Given the description of an element on the screen output the (x, y) to click on. 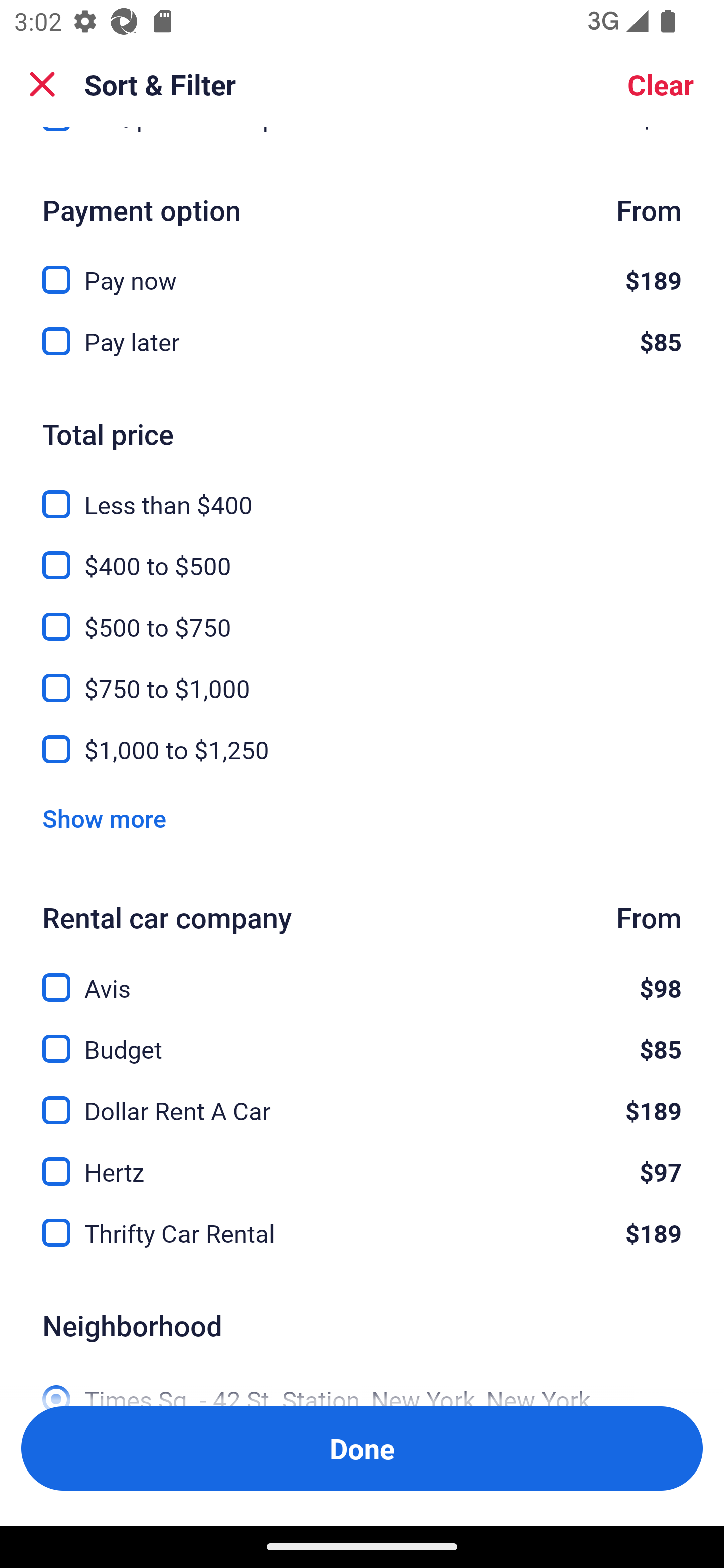
Close Sort and Filter (42, 84)
Clear (660, 84)
Pay now, $189 Pay now $189 (361, 268)
Pay later, $85 Pay later $85 (361, 341)
Less than $400, Less than $400 (361, 492)
$400 to $500, $400 to $500 (361, 553)
$500 to $750, $500 to $750 (361, 615)
$750 to $1,000, $750 to $1,000 (361, 676)
$1,000 to $1,250, $1,000 to $1,250 (361, 749)
Show more Show more Link (103, 818)
Avis, $98 Avis $98 (361, 975)
Budget, $85 Budget $85 (361, 1036)
Dollar Rent A Car, $189 Dollar Rent A Car $189 (361, 1098)
Hertz, $97 Hertz $97 (361, 1160)
Thrifty Car Rental, $189 Thrifty Car Rental $189 (361, 1232)
Apply and close Sort and Filter Done (361, 1448)
